Given the description of an element on the screen output the (x, y) to click on. 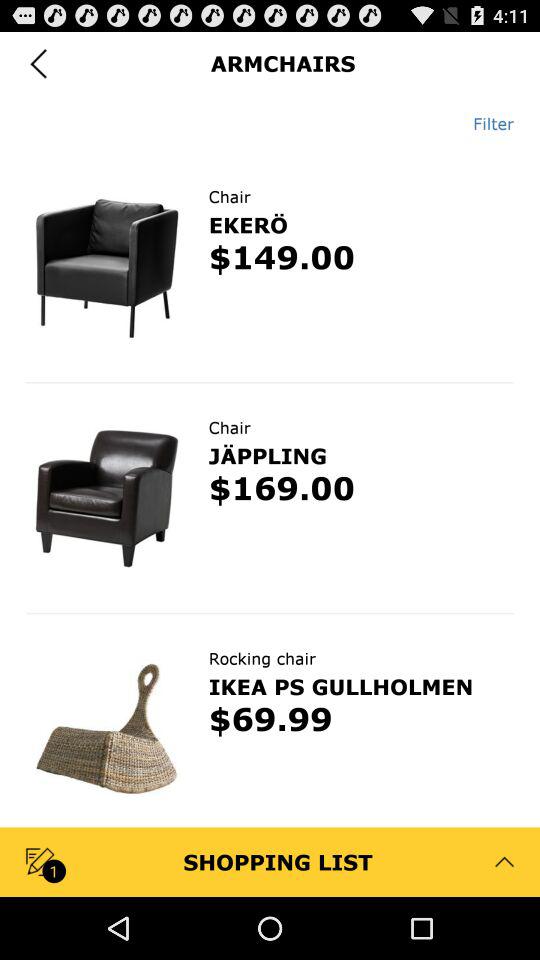
press the item above $149.00 app (248, 224)
